Given the description of an element on the screen output the (x, y) to click on. 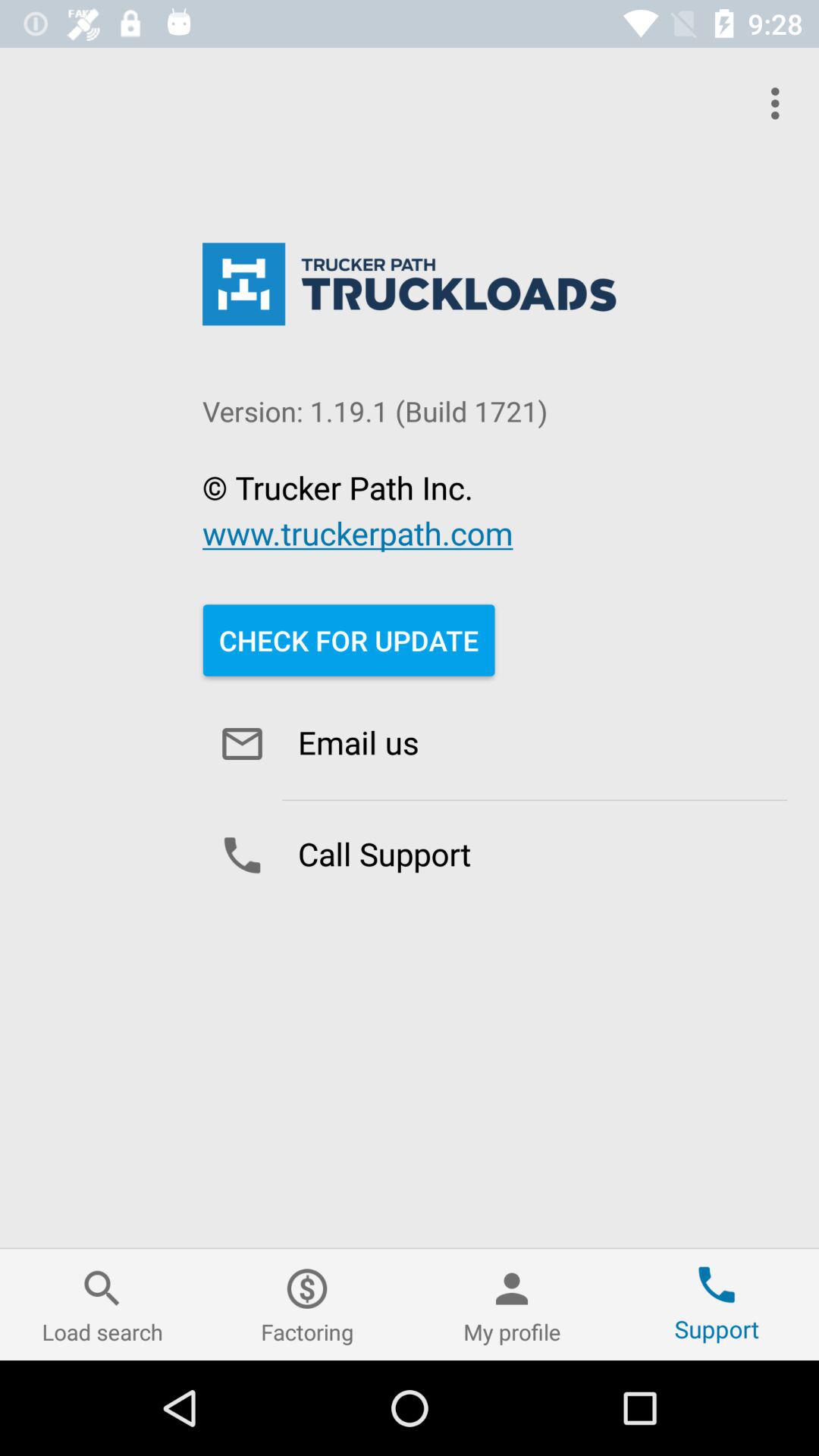
turn on the icon to the left of the my profile icon (306, 1304)
